Given the description of an element on the screen output the (x, y) to click on. 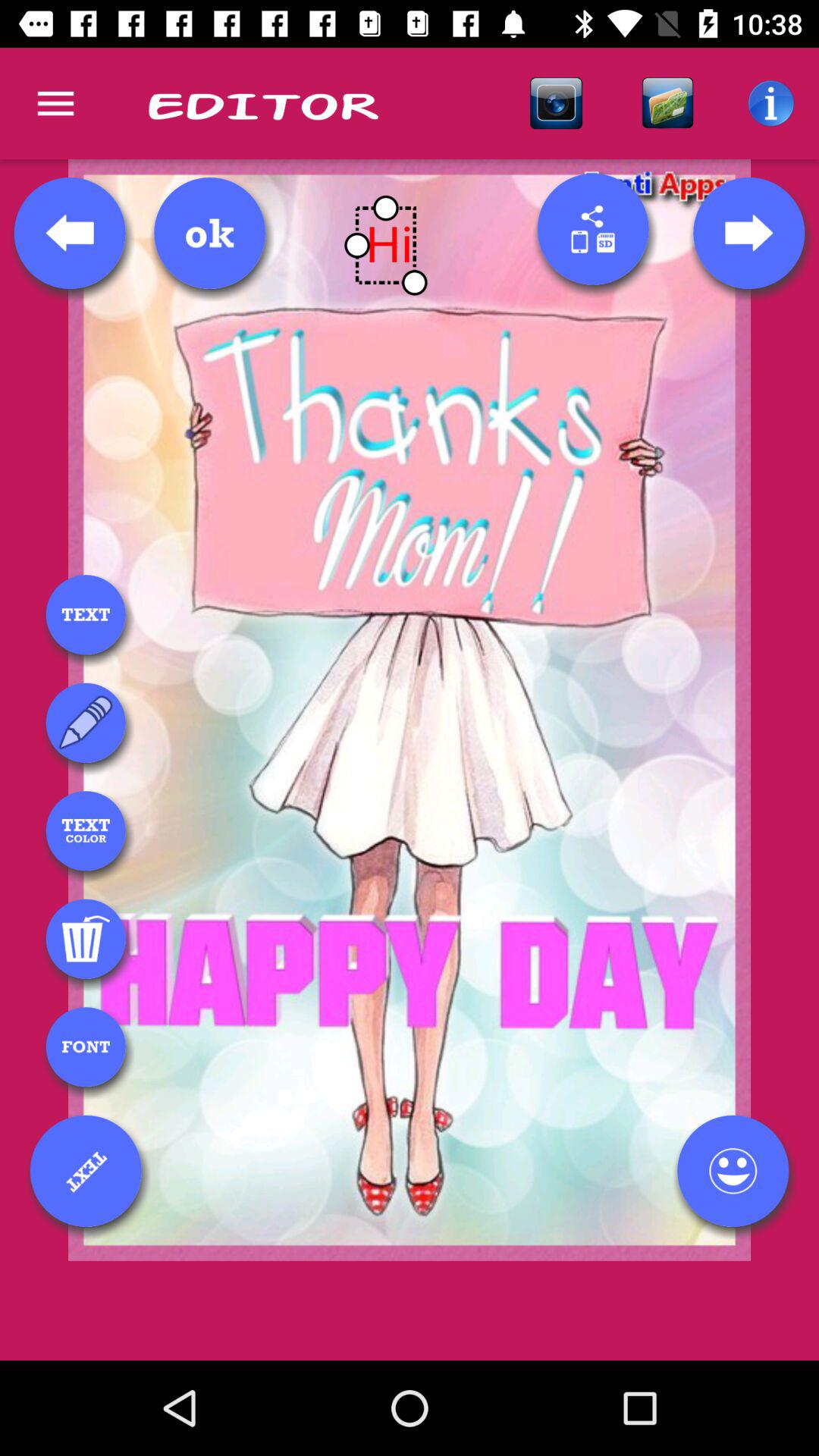
turn on icon next to editor icon (55, 103)
